Given the description of an element on the screen output the (x, y) to click on. 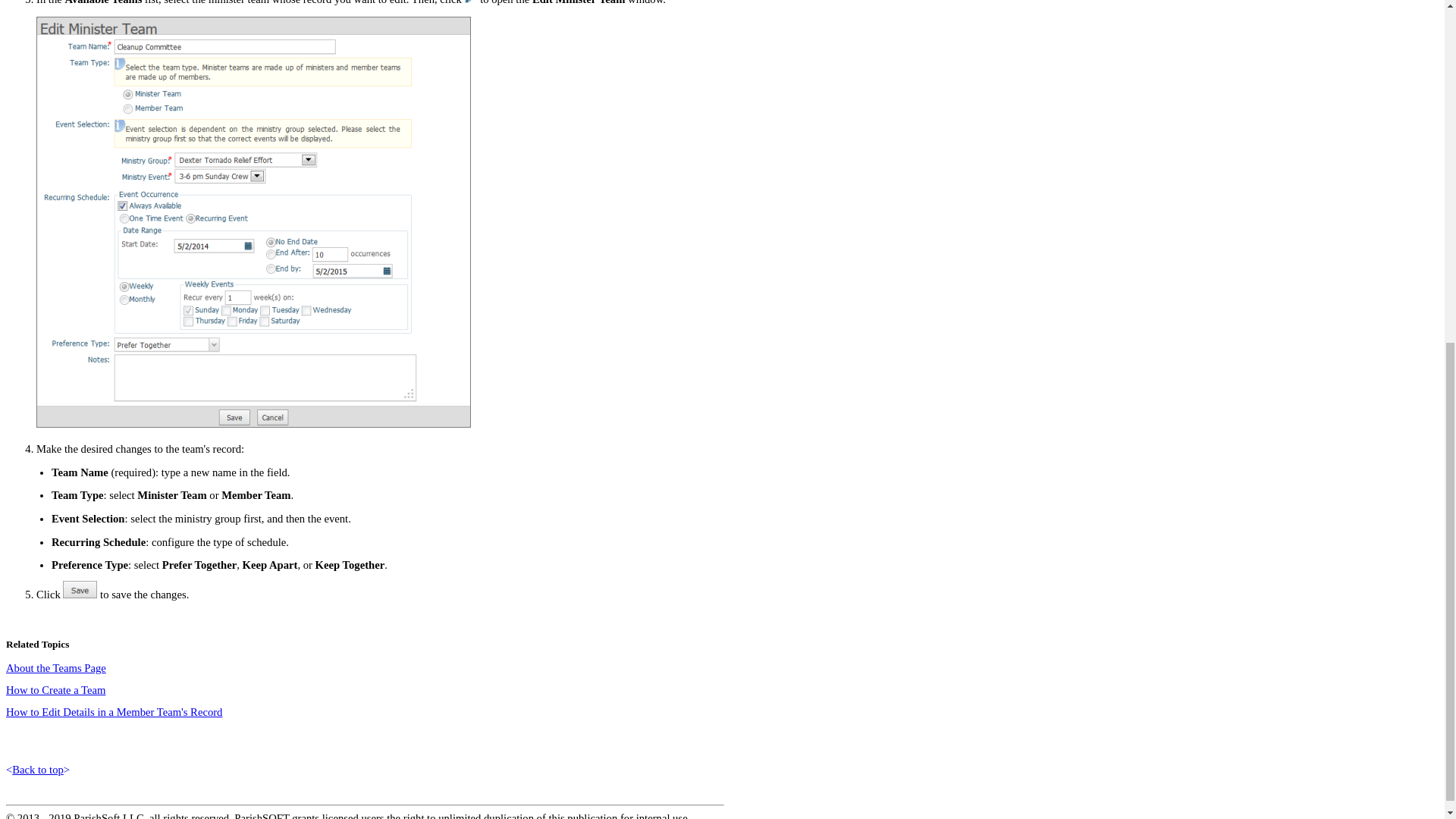
About the Teams Page (55, 667)
minister team (238, 2)
How to Create a Team (54, 689)
Back to top (37, 769)
How to Edit Details in a Member Team's Record (113, 711)
